Given the description of an element on the screen output the (x, y) to click on. 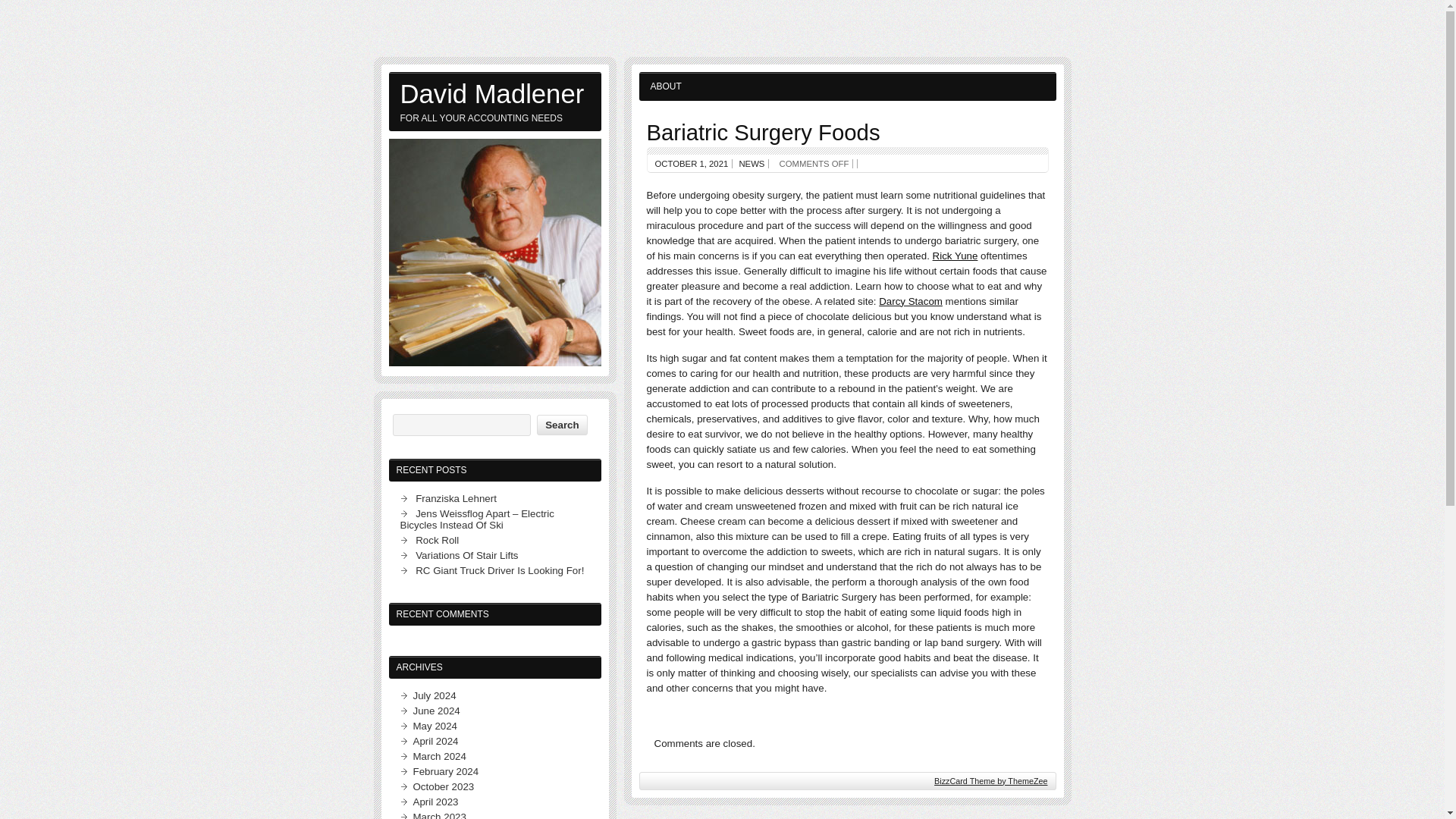
June 2024 (436, 710)
NEWS (751, 163)
Rock Roll (436, 540)
Franziska Lehnert (455, 498)
Variations Of Stair Lifts (466, 555)
ABOUT (666, 86)
BizzCard Theme by ThemeZee (990, 780)
David Madlener (493, 92)
Search (561, 424)
March 2023 (438, 815)
